Given the description of an element on the screen output the (x, y) to click on. 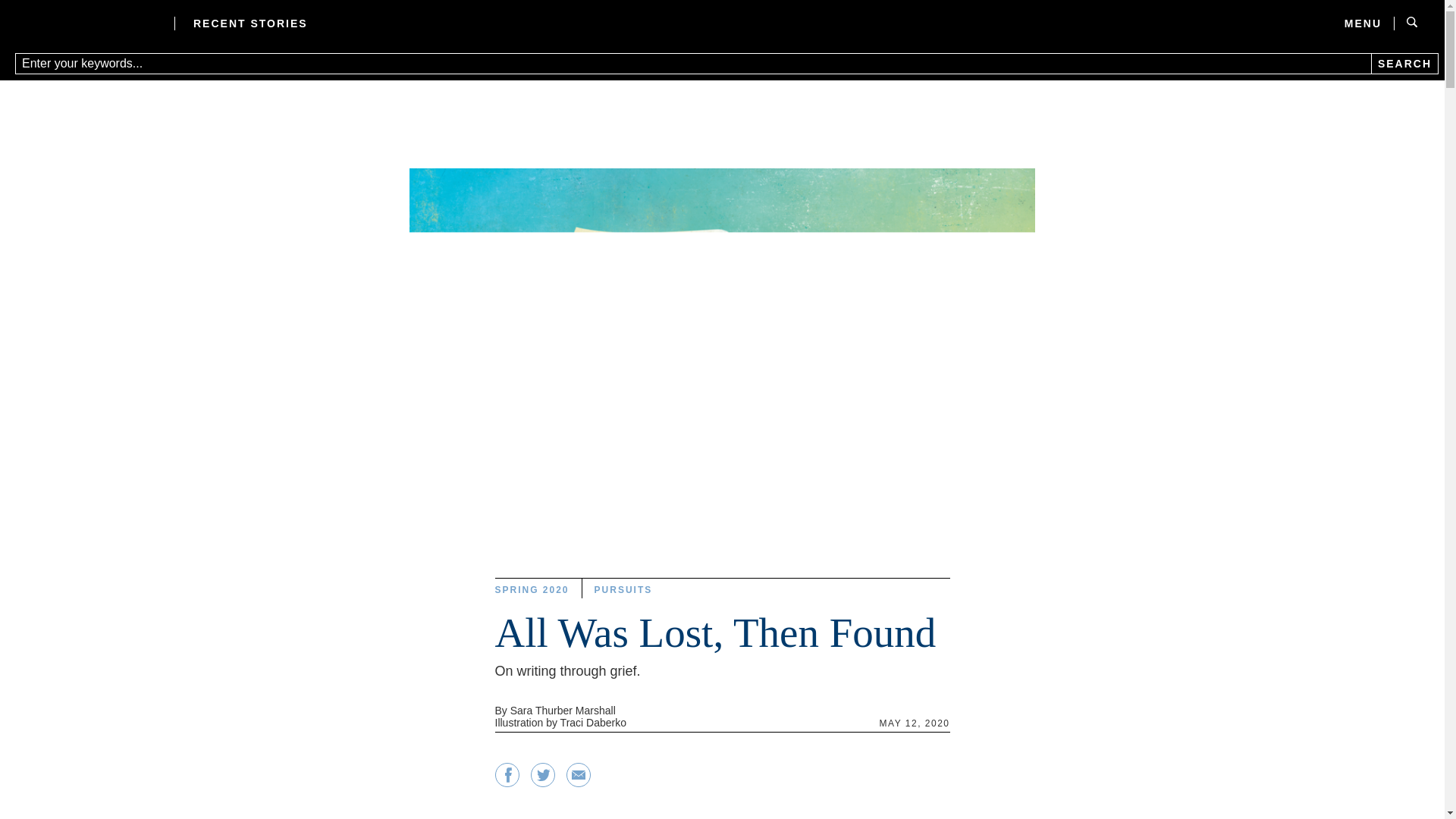
PURSUITS (623, 588)
Search (1404, 63)
Search (1404, 63)
Facebook icon (506, 782)
Twitter icon (542, 782)
Email icon (577, 774)
Share via email (577, 782)
MENU (1353, 22)
SPRING 2020 (532, 588)
Facebook icon (506, 774)
Share on Facebook (506, 782)
RECENT STORIES (250, 22)
Middlebury Magazine (84, 22)
Email icon (577, 782)
Twitter icon (542, 774)
